Given the description of an element on the screen output the (x, y) to click on. 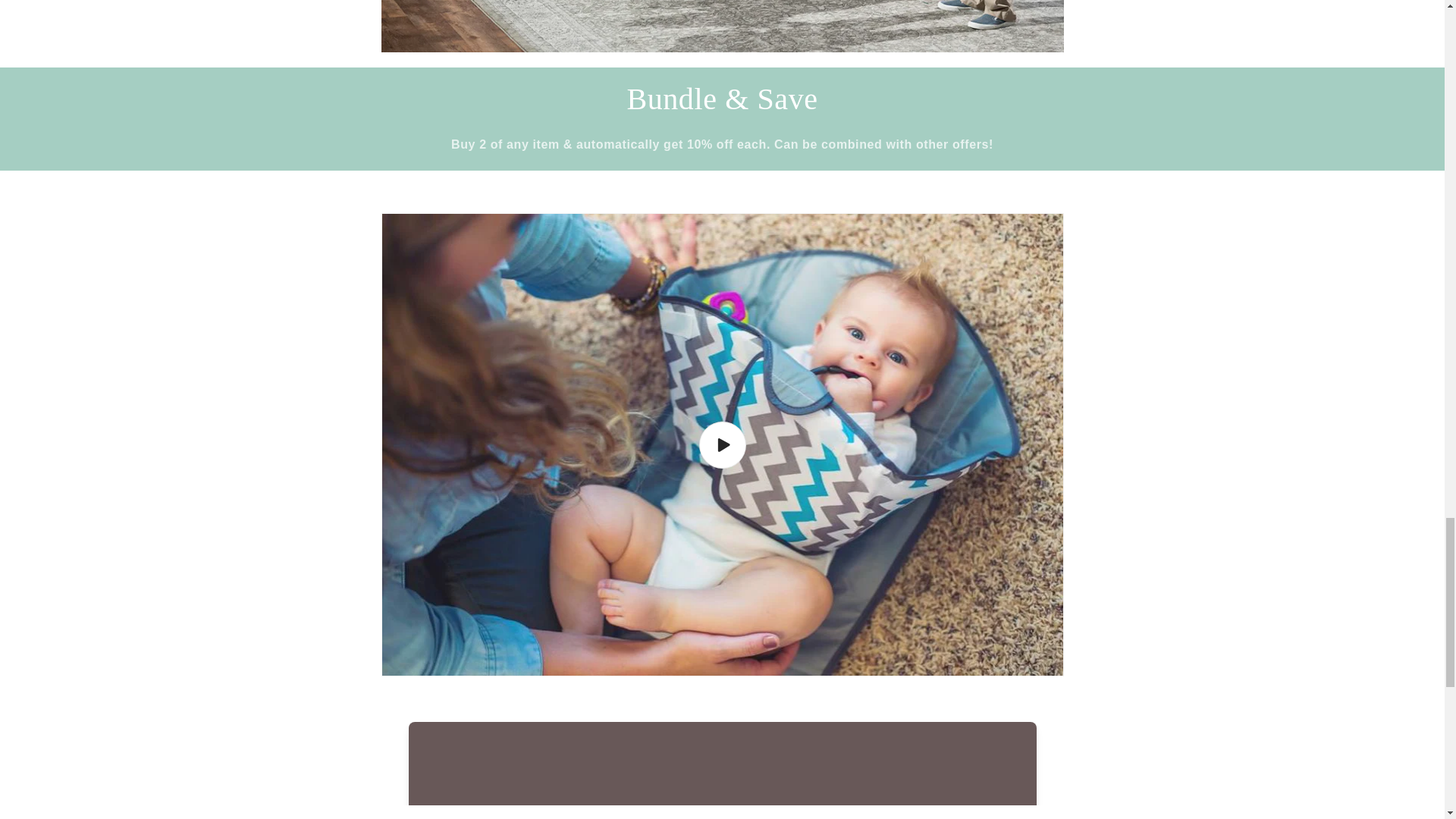
Carousel cards reviews widget (721, 748)
